Given the description of an element on the screen output the (x, y) to click on. 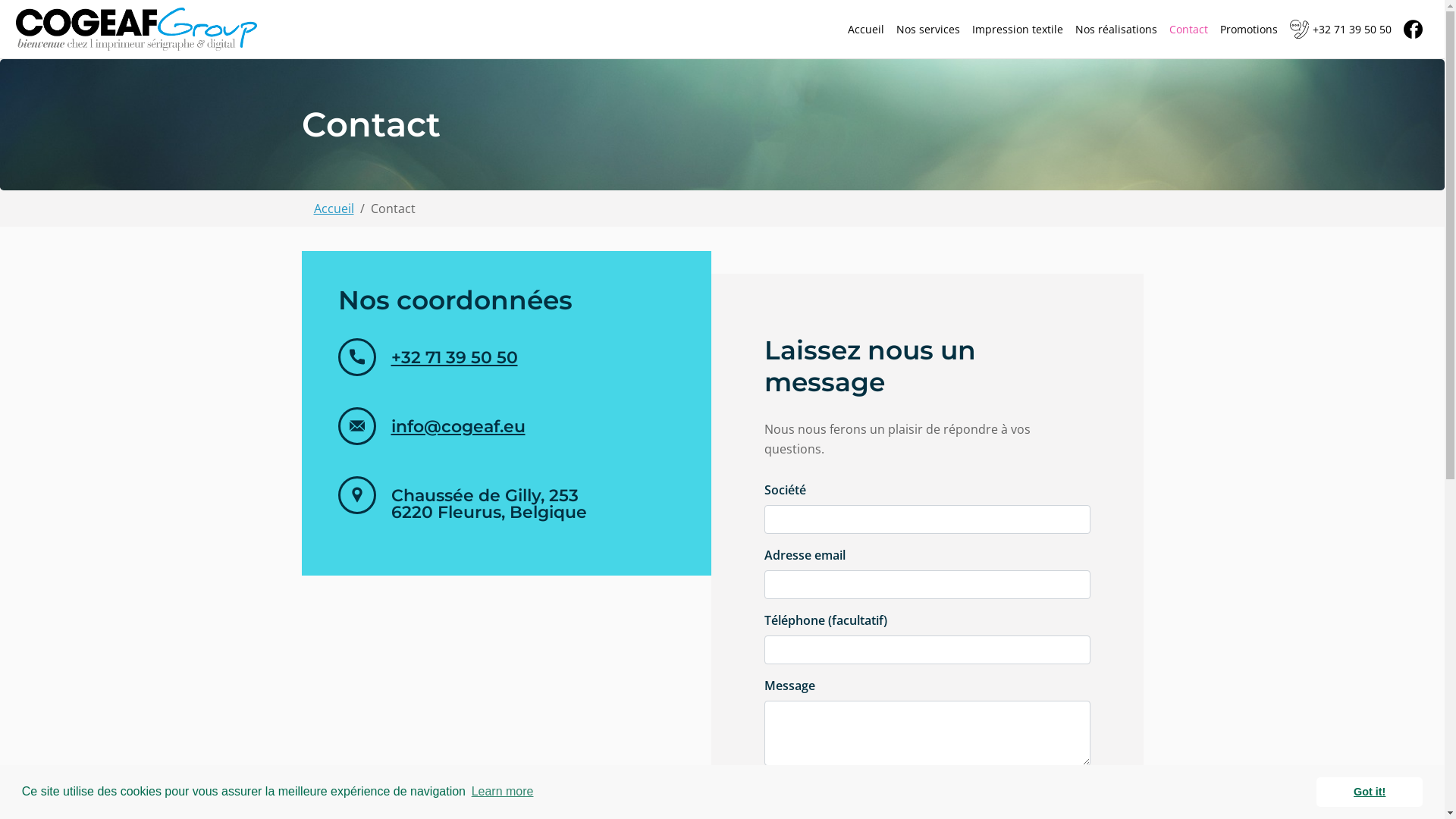
Contact Element type: text (1188, 29)
+32 71 39 50 50 Element type: text (454, 357)
Got it! Element type: text (1369, 791)
info@cogeaf.eu Element type: text (458, 426)
Impression textile Element type: text (1017, 29)
Accueil Element type: text (333, 207)
Learn more Element type: text (501, 791)
Accueil Element type: text (865, 29)
+32 71 39 50 50 Element type: text (1340, 29)
Nos services Element type: text (928, 29)
Promotions Element type: text (1248, 29)
